Given the description of an element on the screen output the (x, y) to click on. 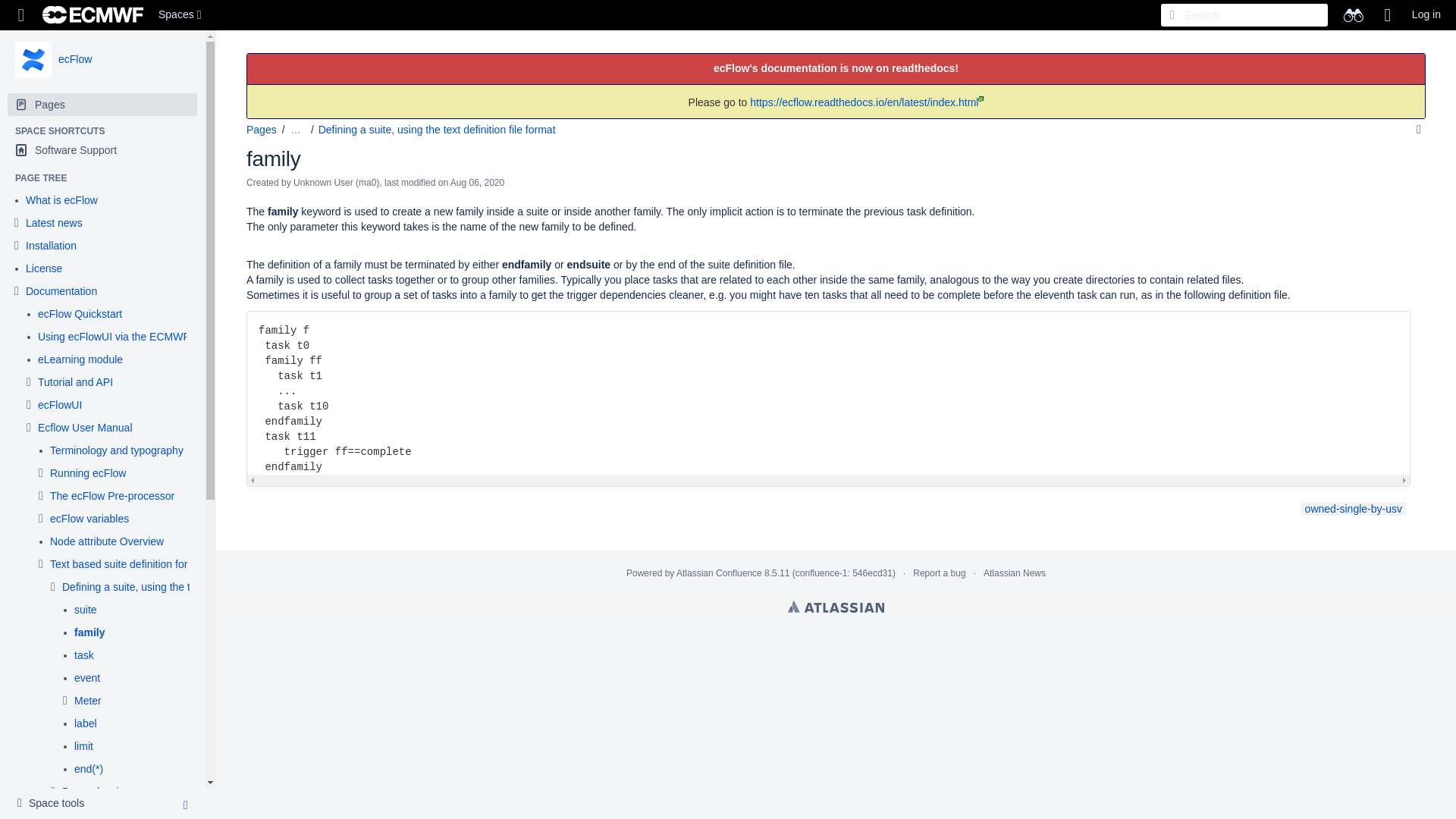
ScriptRunner Enhanced Search (1353, 15)
Linked Applications (20, 15)
ecFlow Quickstart (79, 314)
Log in (1426, 15)
Latest news (54, 223)
Pages (101, 104)
Spaces (181, 15)
Ecflow User Manual (84, 427)
Using ecFlowUI via the ECMWF Teleport gateway (154, 337)
What is ecFlow (61, 200)
